Given the description of an element on the screen output the (x, y) to click on. 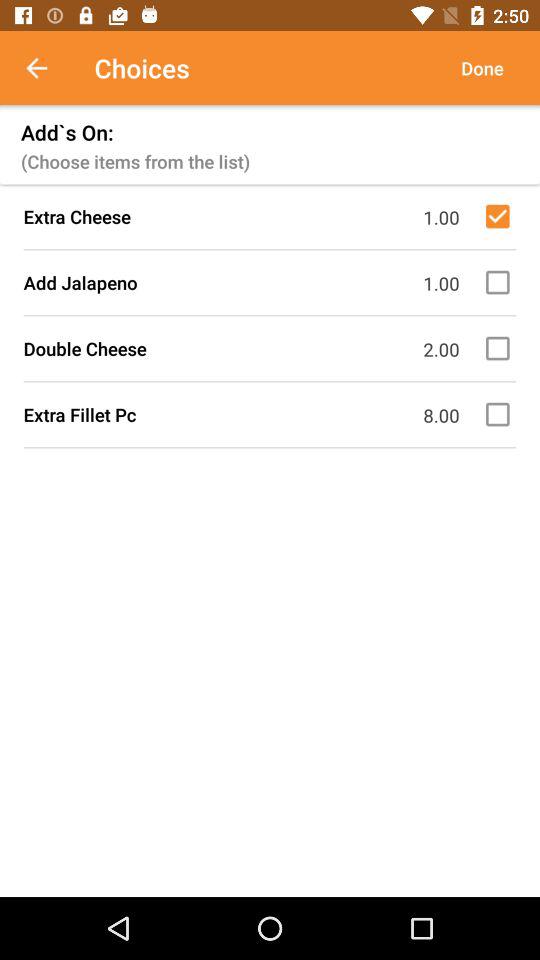
jump until done (482, 67)
